Given the description of an element on the screen output the (x, y) to click on. 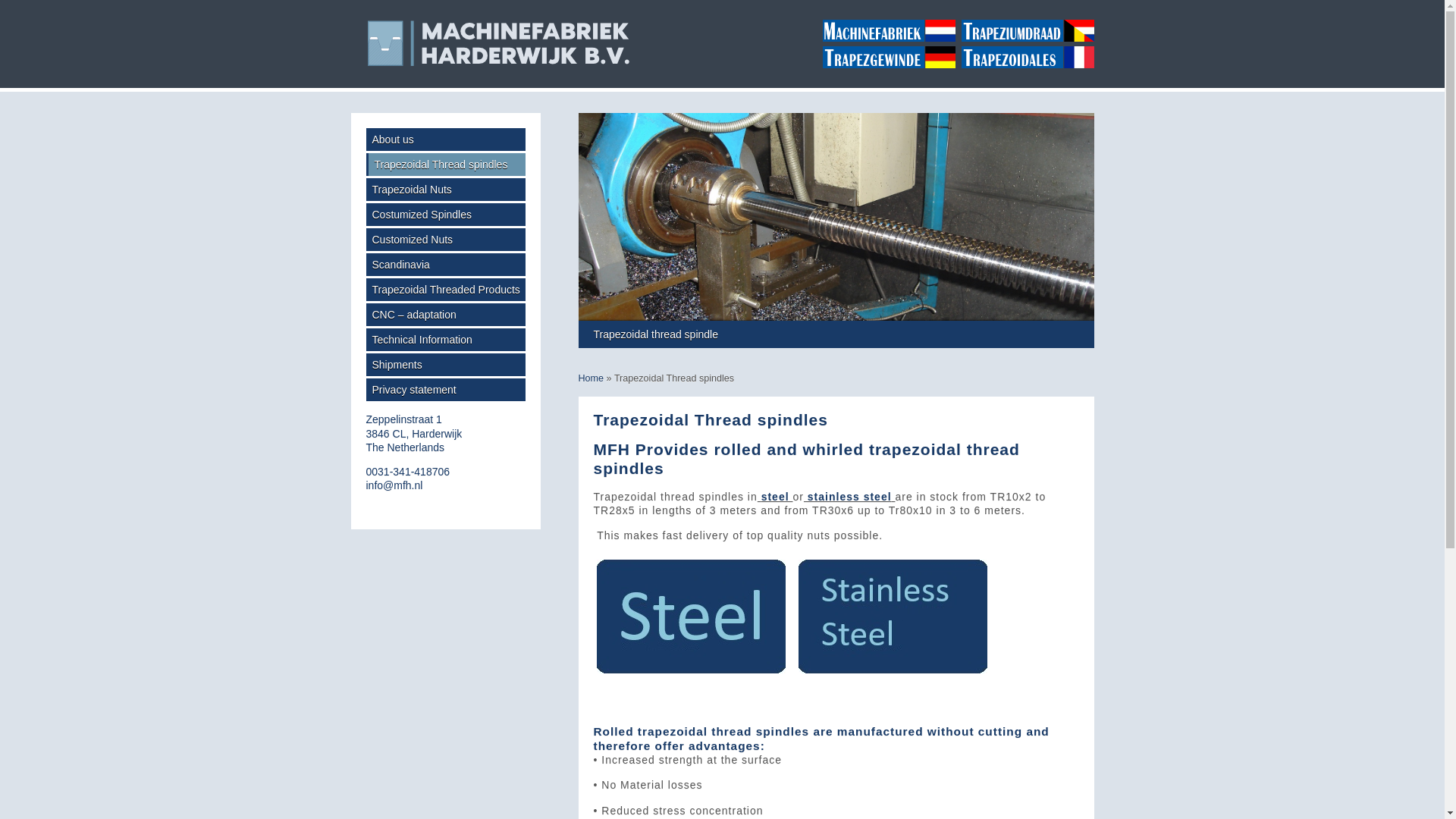
Trapezgewinde - Machinefabriek Harderwijk B.V. (885, 57)
Trapezoidal Thread spindles (444, 164)
Trapezoidal Nuts (444, 189)
Shipments (444, 363)
Customized Nuts (444, 239)
Privacy statement (444, 389)
0031-341-418706 (407, 471)
Trapeziumdraad - Machinefabriek Harderwijk B.V. (1024, 30)
Scandinavia (413, 432)
